Given the description of an element on the screen output the (x, y) to click on. 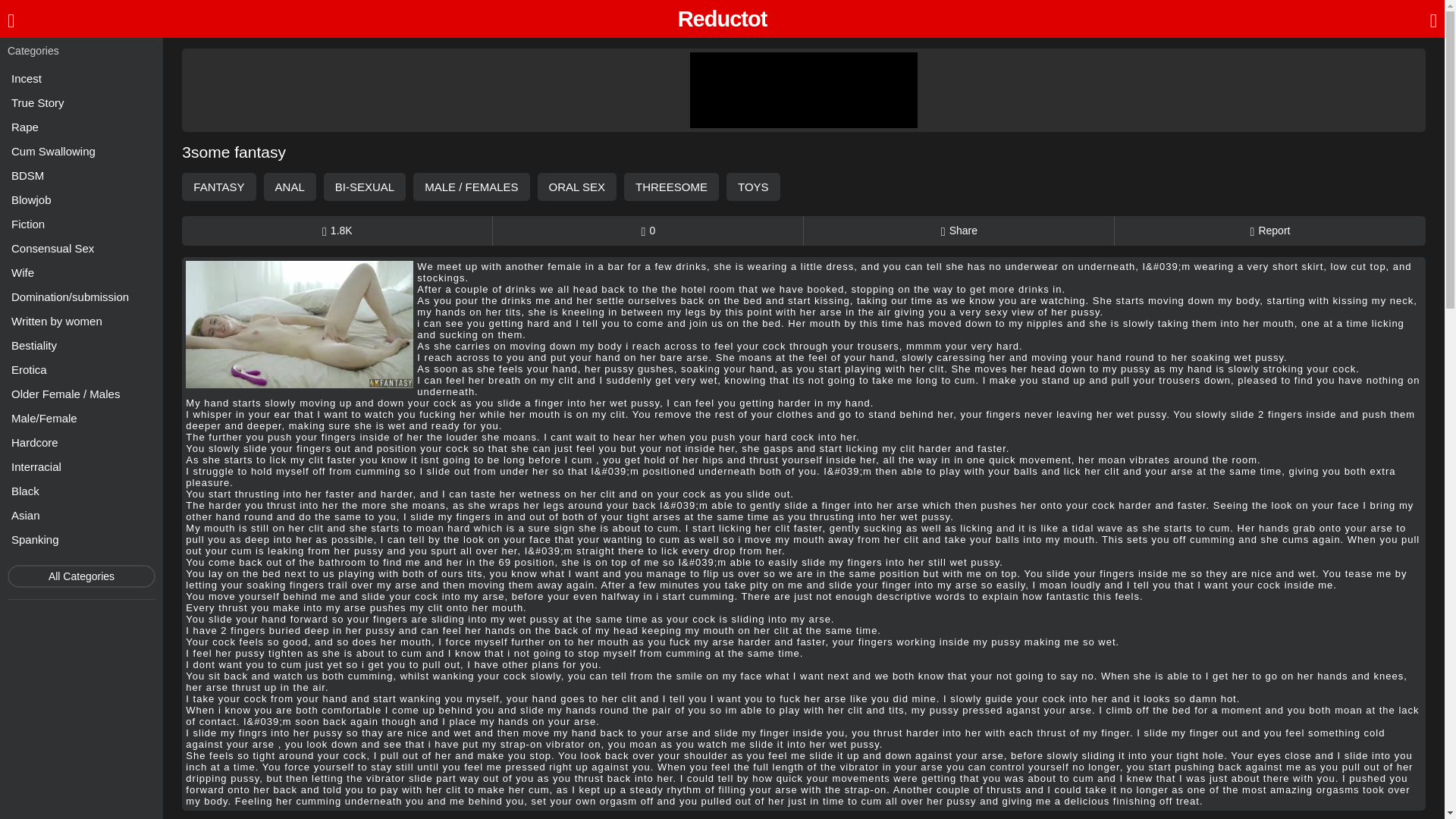
Reductot (722, 18)
Bestiality (81, 344)
THREESOME (671, 186)
Erotica (81, 369)
Incest (81, 77)
Fiction (81, 223)
Bestiality (81, 344)
Rape (81, 127)
TOYS (753, 186)
Asian (81, 515)
